Given the description of an element on the screen output the (x, y) to click on. 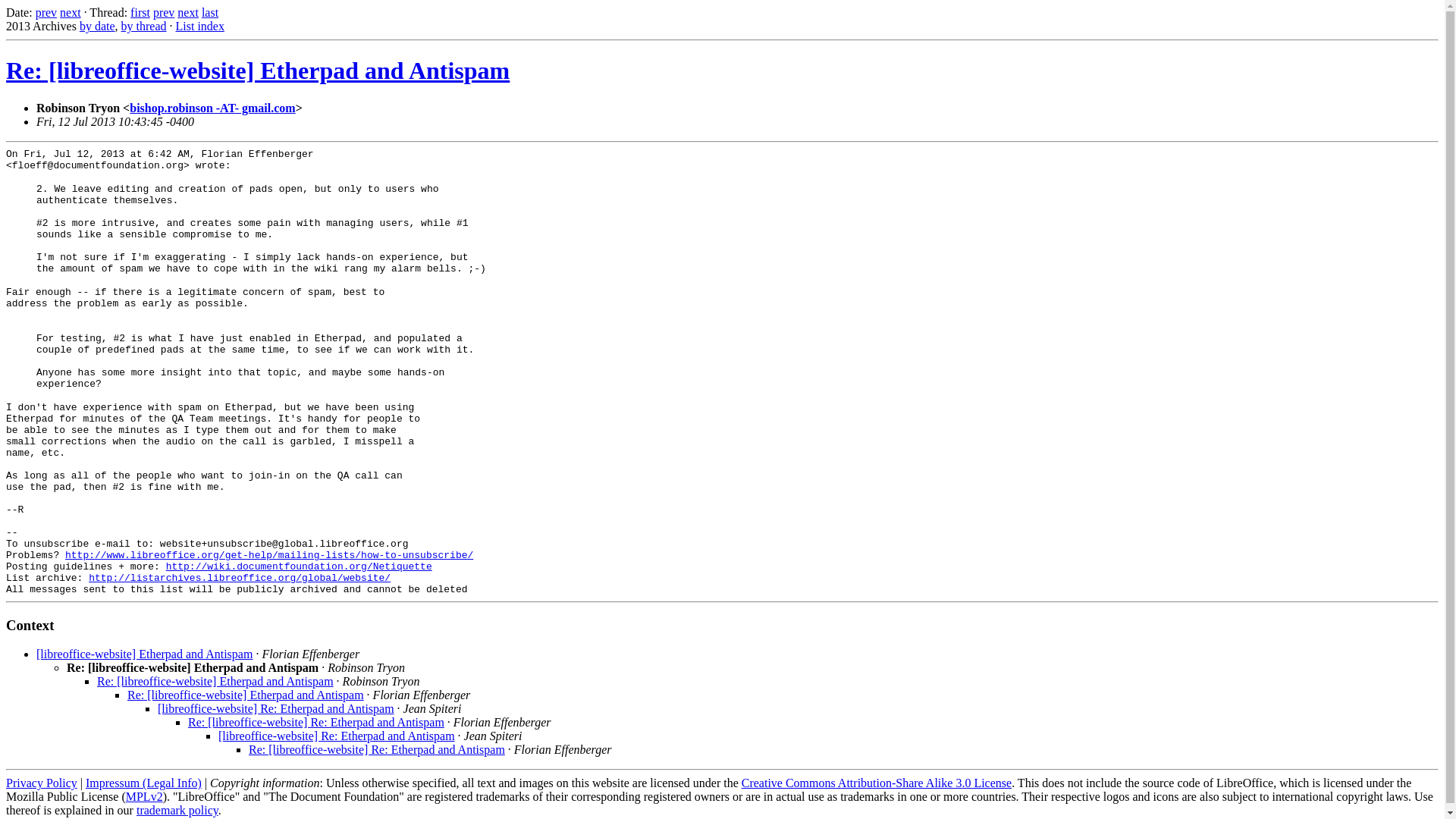
MPLv2 (144, 796)
Creative Commons Attribution-Share Alike 3.0 License (876, 782)
bishop.robinson -AT- gmail.com (212, 107)
prev (163, 11)
next (187, 11)
by date (97, 25)
next (70, 11)
prev (45, 11)
List index (200, 25)
first (140, 11)
Privacy Policy (41, 782)
by thread (143, 25)
last (210, 11)
